Given the description of an element on the screen output the (x, y) to click on. 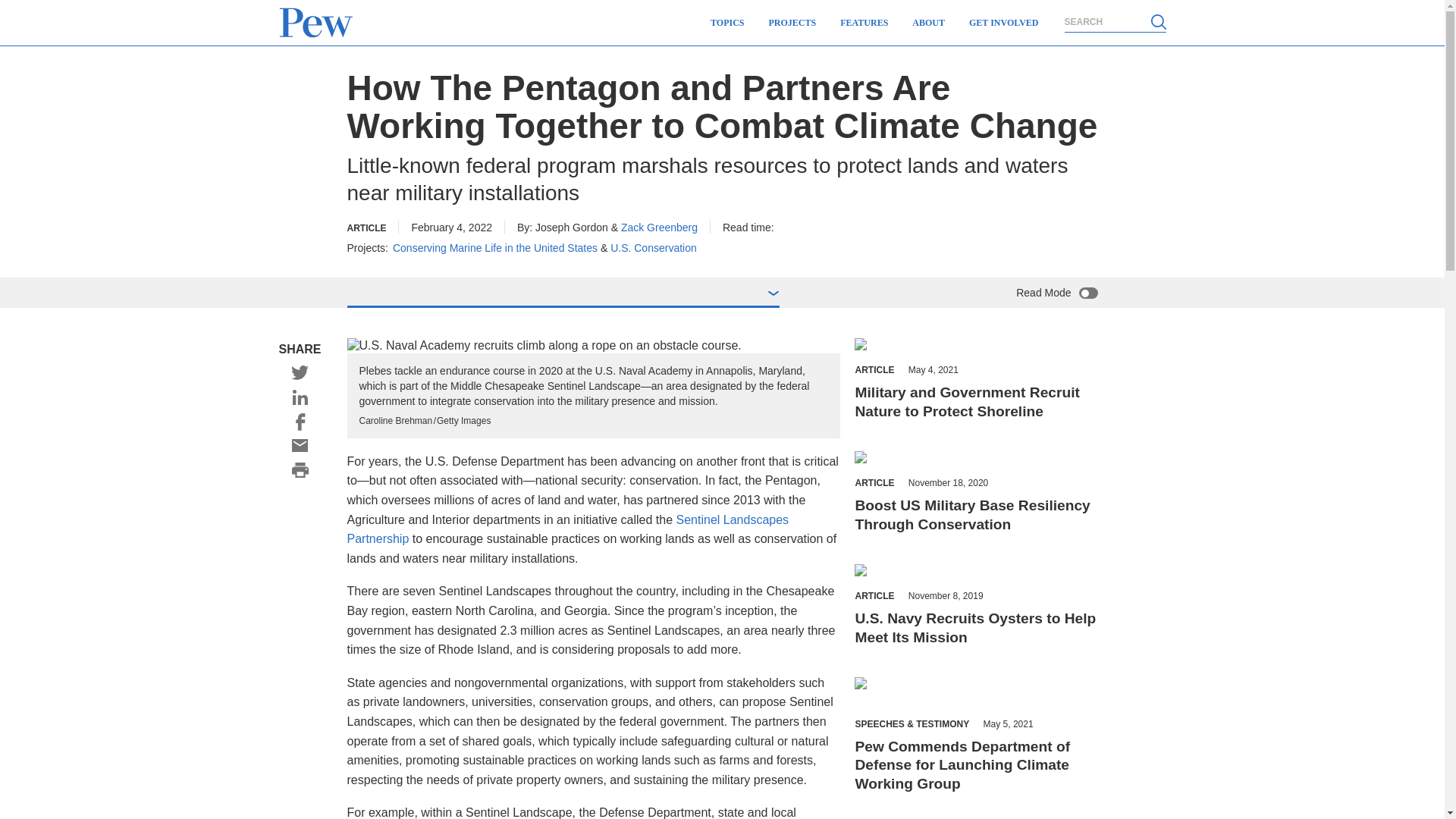
REPI (874, 458)
TOPICS (726, 22)
PROJECTS (792, 22)
Oysters (881, 571)
U.S. Naval Academy (593, 345)
Amphibious Bold Alligator Exercise  (954, 345)
